Given the description of an element on the screen output the (x, y) to click on. 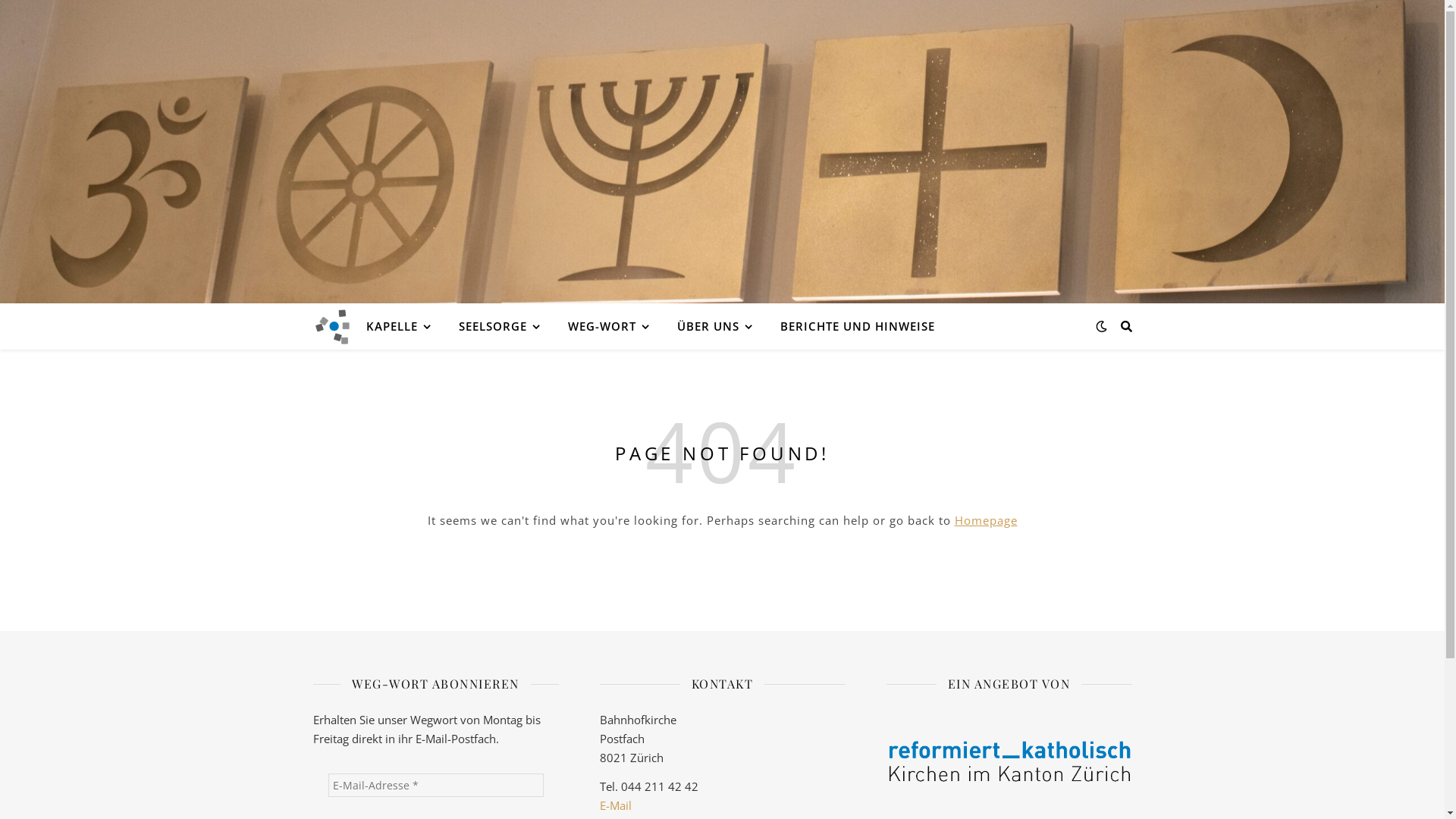
SEELSORGE Element type: text (498, 326)
BERICHTE UND HINWEISE Element type: text (850, 325)
Homepage Element type: text (984, 519)
WEG-WORT Element type: text (608, 326)
E-Mail-Adresse Element type: hover (434, 785)
KAPELLE Element type: text (403, 326)
E-Mail Element type: text (614, 804)
